Given the description of an element on the screen output the (x, y) to click on. 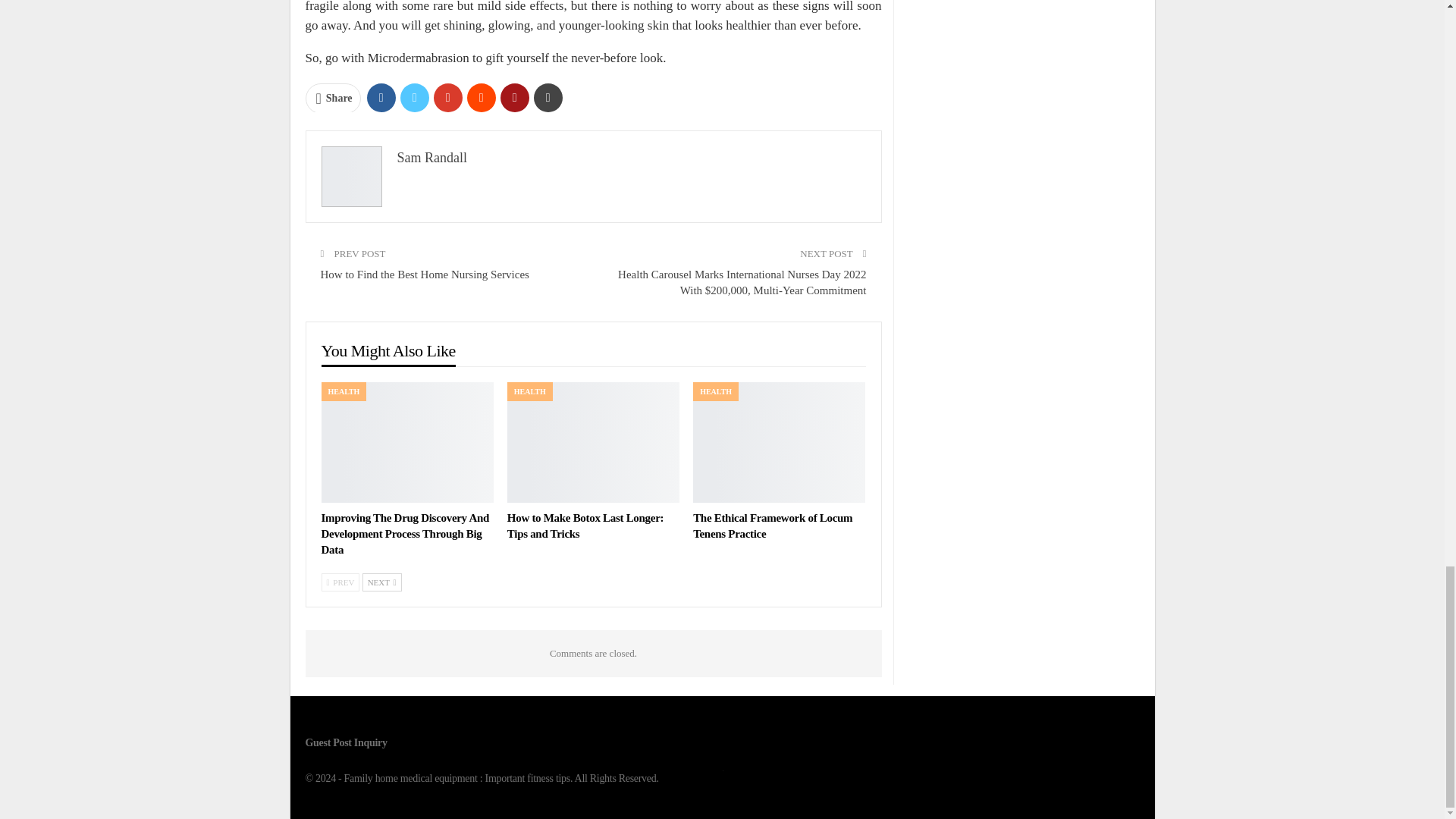
Previous (340, 582)
How to Make Botox Last Longer: Tips and Tricks (584, 525)
How to Make Botox Last Longer: Tips and Tricks (592, 442)
The Ethical Framework of Locum Tenens Practice (772, 525)
The Ethical Framework of Locum Tenens Practice (778, 442)
Next (381, 582)
